Given the description of an element on the screen output the (x, y) to click on. 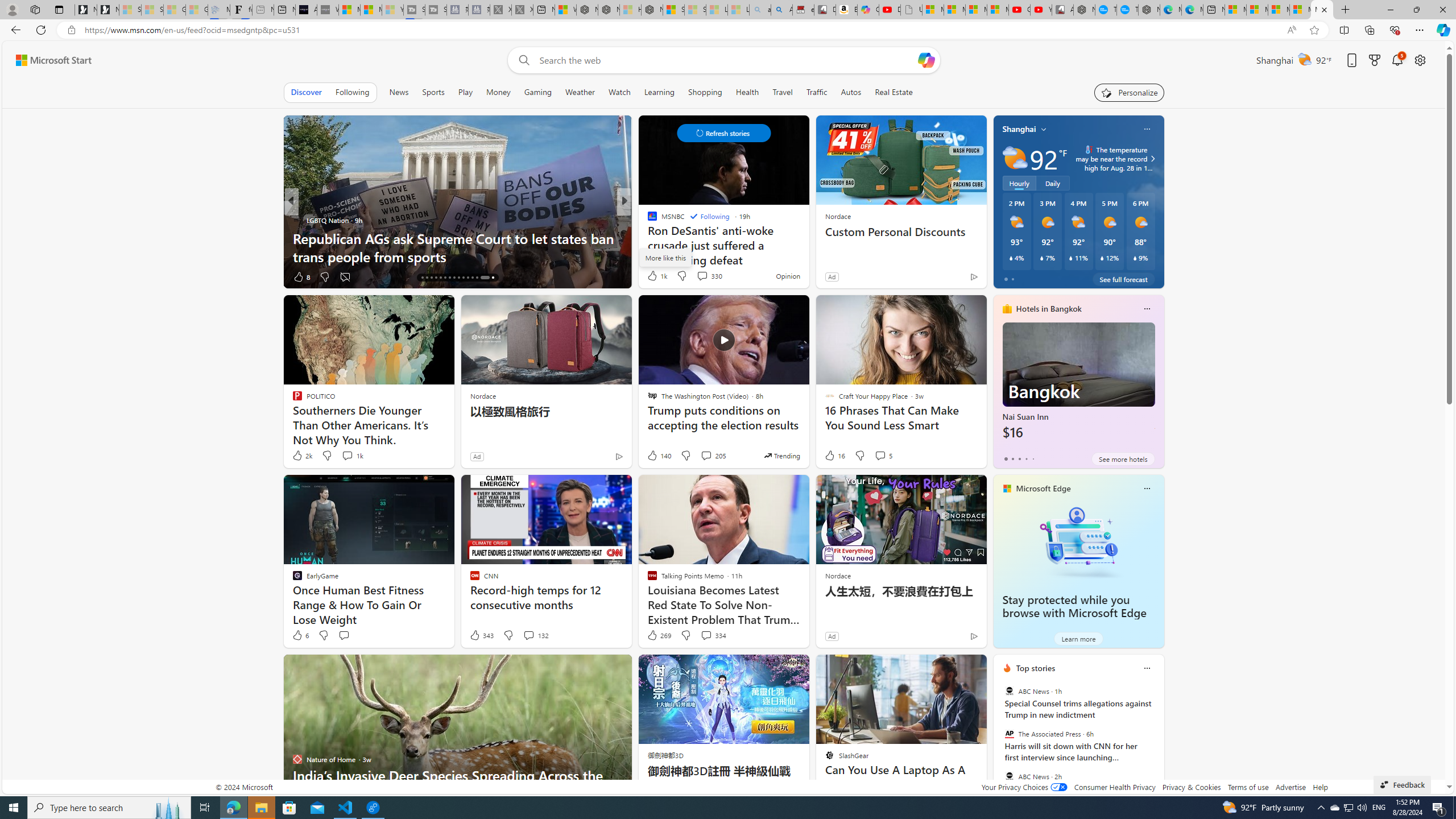
View comments 334 Comment (705, 635)
AutomationID: tab-23 (454, 277)
Untitled (911, 9)
View comments 132 Comment (535, 634)
